Given the description of an element on the screen output the (x, y) to click on. 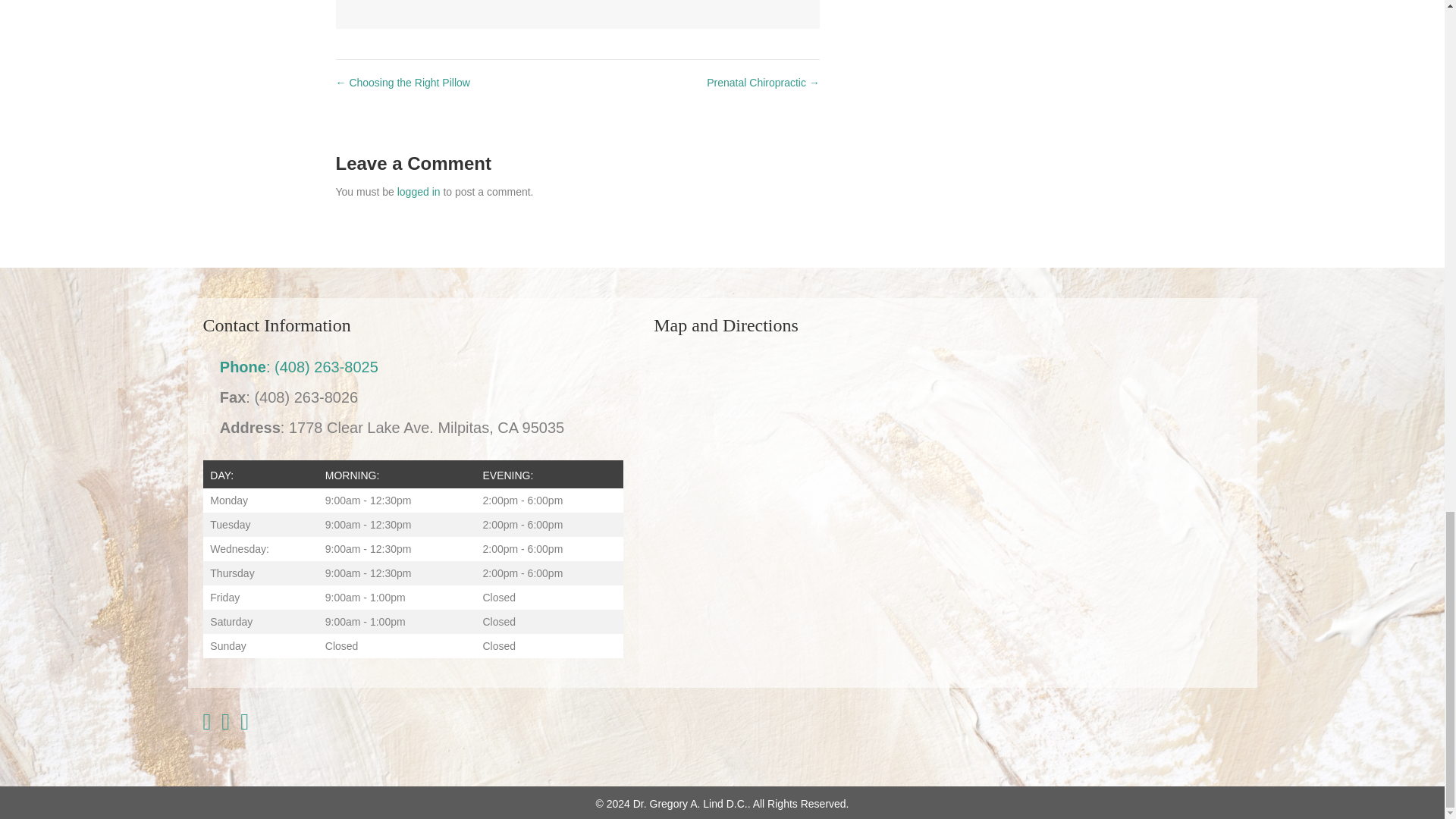
logged in (419, 191)
